Given the description of an element on the screen output the (x, y) to click on. 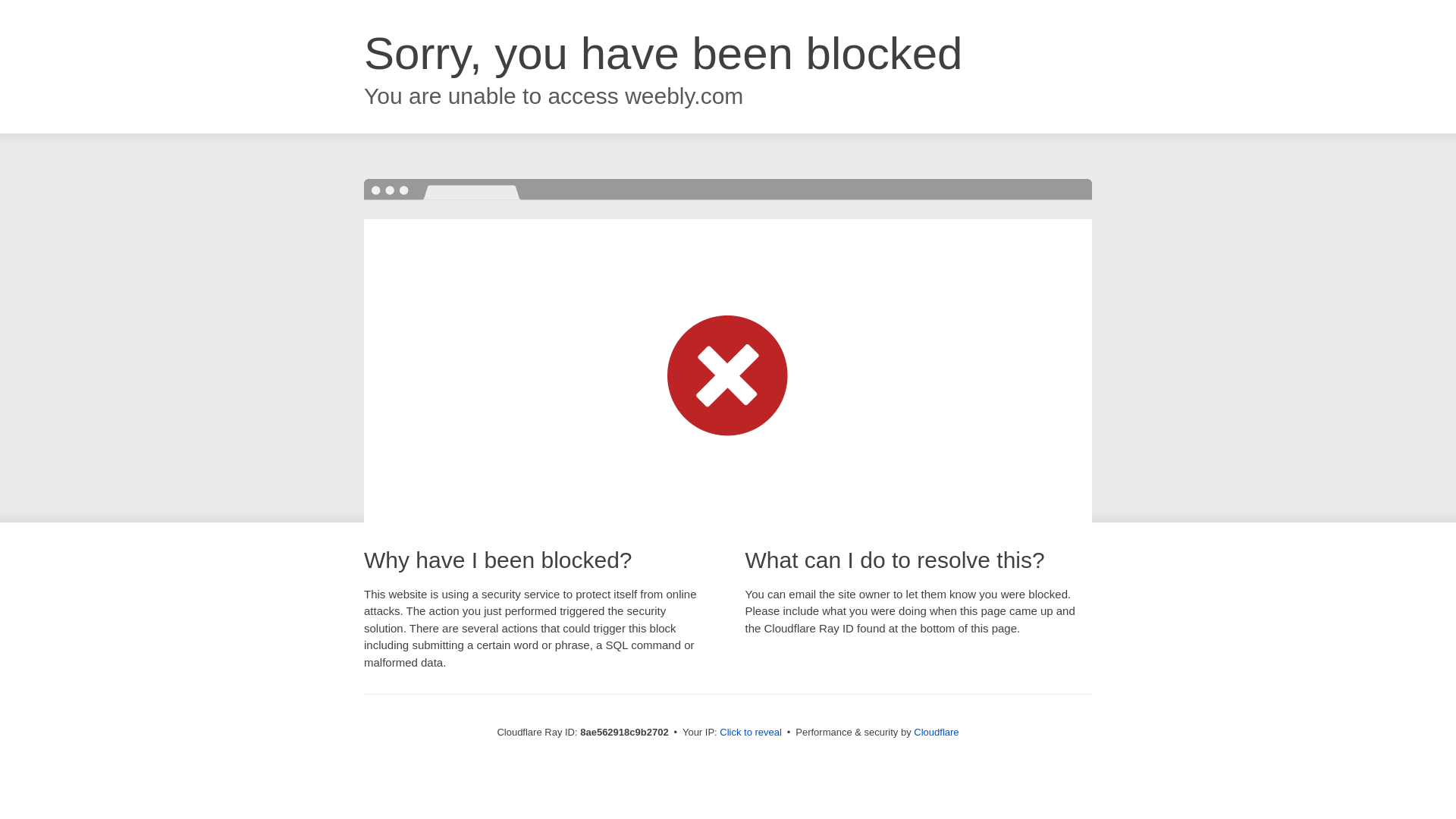
Cloudflare (936, 731)
Click to reveal (750, 732)
